Given the description of an element on the screen output the (x, y) to click on. 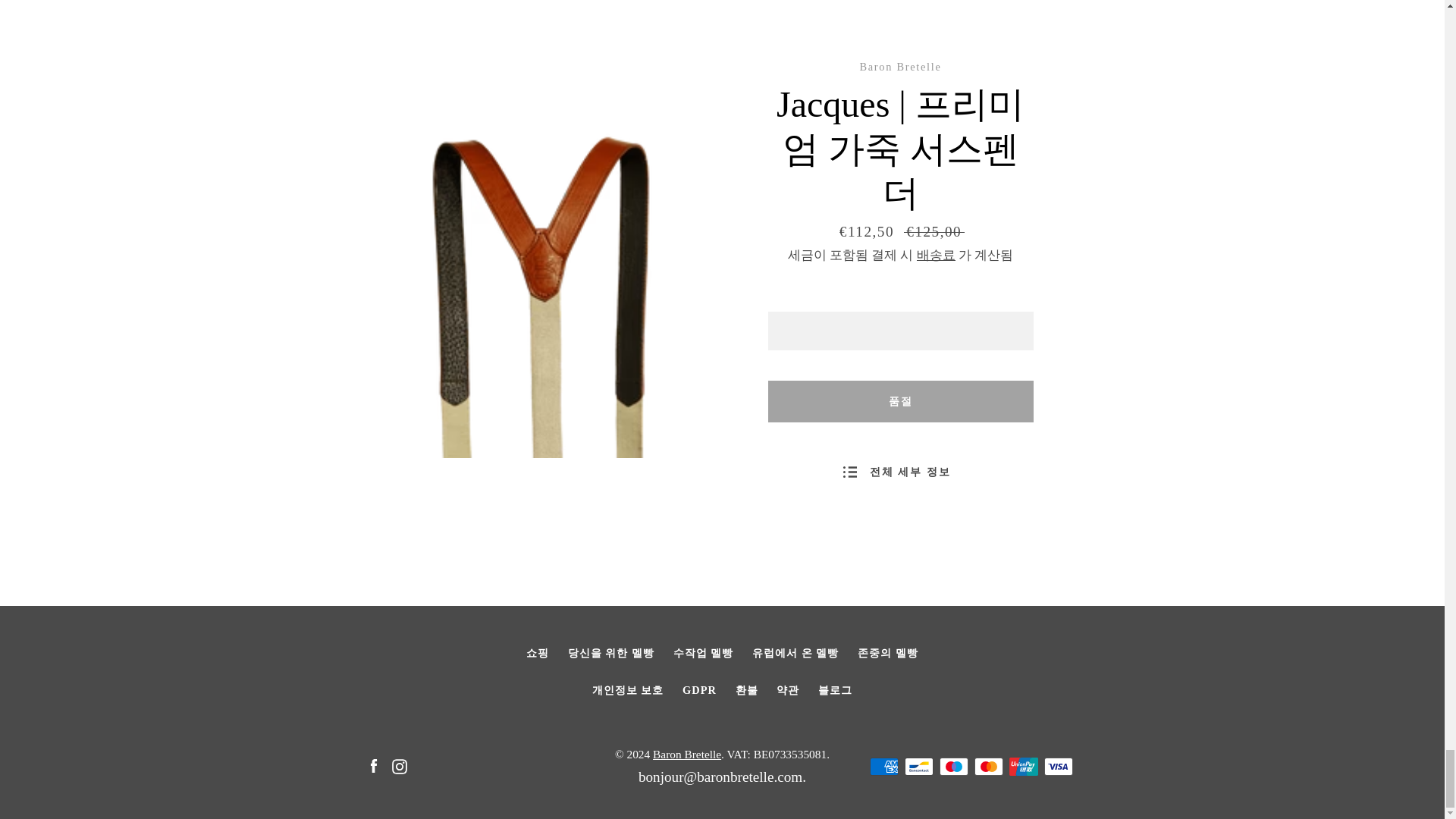
Maestro (953, 766)
Mastercard (988, 766)
Bancontact (918, 766)
Union Pay (1022, 766)
GDPR (699, 689)
Visa (1057, 766)
American Express (883, 766)
